Given the description of an element on the screen output the (x, y) to click on. 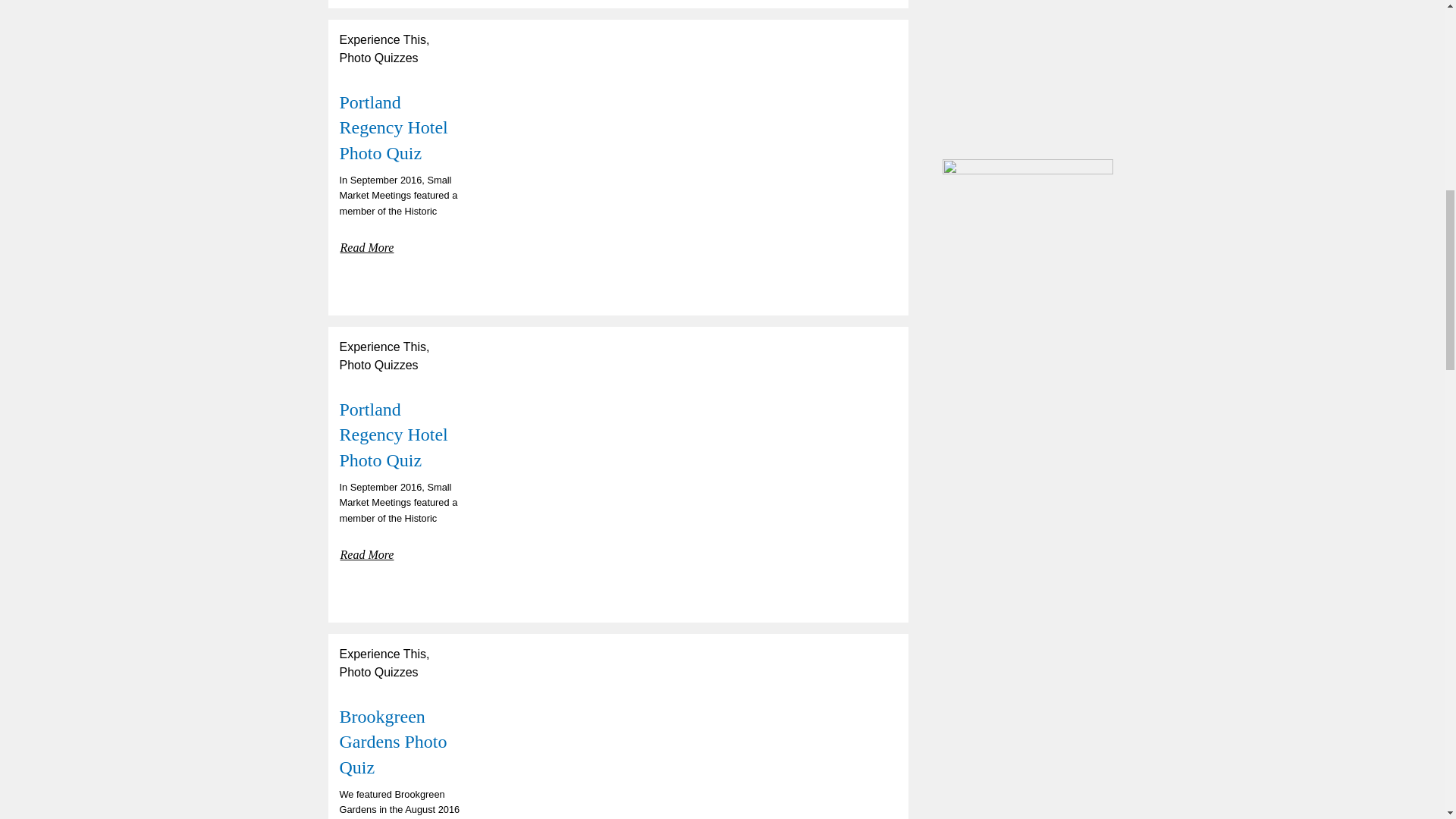
Brookgreen Gardens Photo Quiz (392, 741)
Read More (366, 551)
Brookgreen Gardens Photo Quiz (392, 741)
Portland Regency Hotel Photo Quiz (393, 127)
Portland Regency Hotel Photo Quiz (393, 434)
Portland Regency Hotel Photo Quiz (393, 434)
Portland Regency Hotel Photo Quiz (393, 127)
Read More (366, 244)
